Given the description of an element on the screen output the (x, y) to click on. 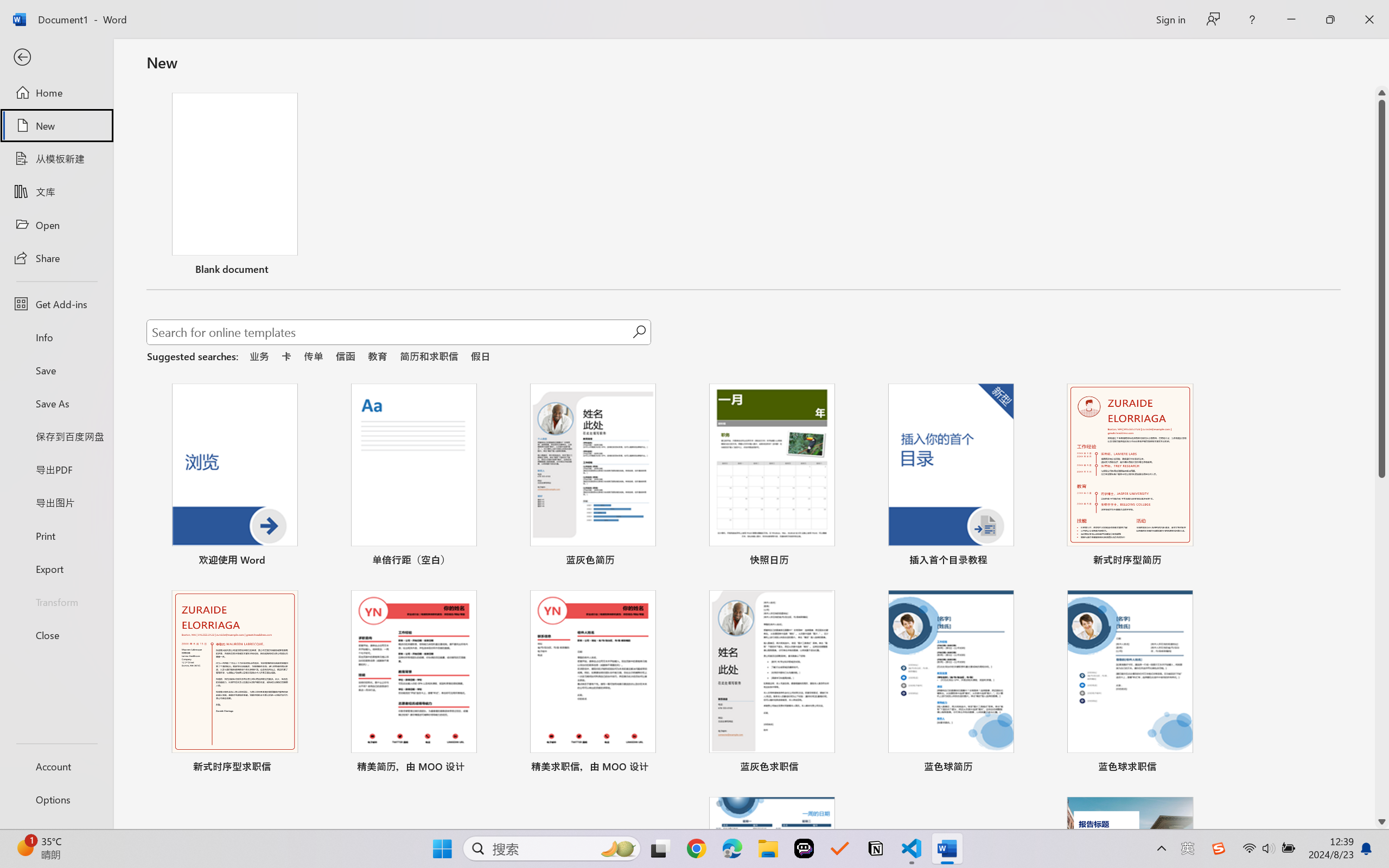
Save As (56, 403)
Options (56, 798)
Pin to list (1200, 767)
Start searching (638, 332)
